Given the description of an element on the screen output the (x, y) to click on. 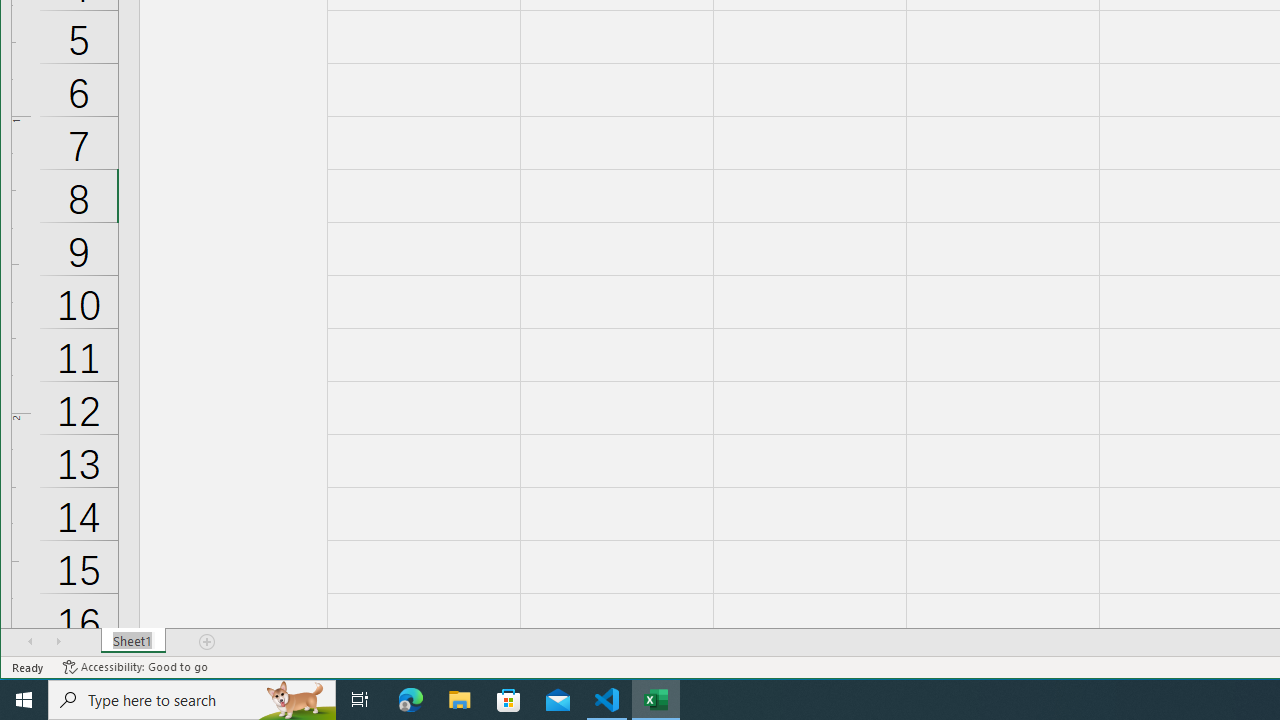
Excel - 1 running window (656, 699)
Start (24, 699)
Visual Studio Code - 1 running window (607, 699)
Scroll Right (58, 641)
Sheet Tab (133, 641)
Search highlights icon opens search home window (295, 699)
Add Sheet (207, 641)
Scroll Left (30, 641)
Accessibility Checker Accessibility: Good to go (135, 667)
Type here to search (191, 699)
Microsoft Edge (411, 699)
Task View (359, 699)
Microsoft Store (509, 699)
Sheet1 (133, 641)
